Given the description of an element on the screen output the (x, y) to click on. 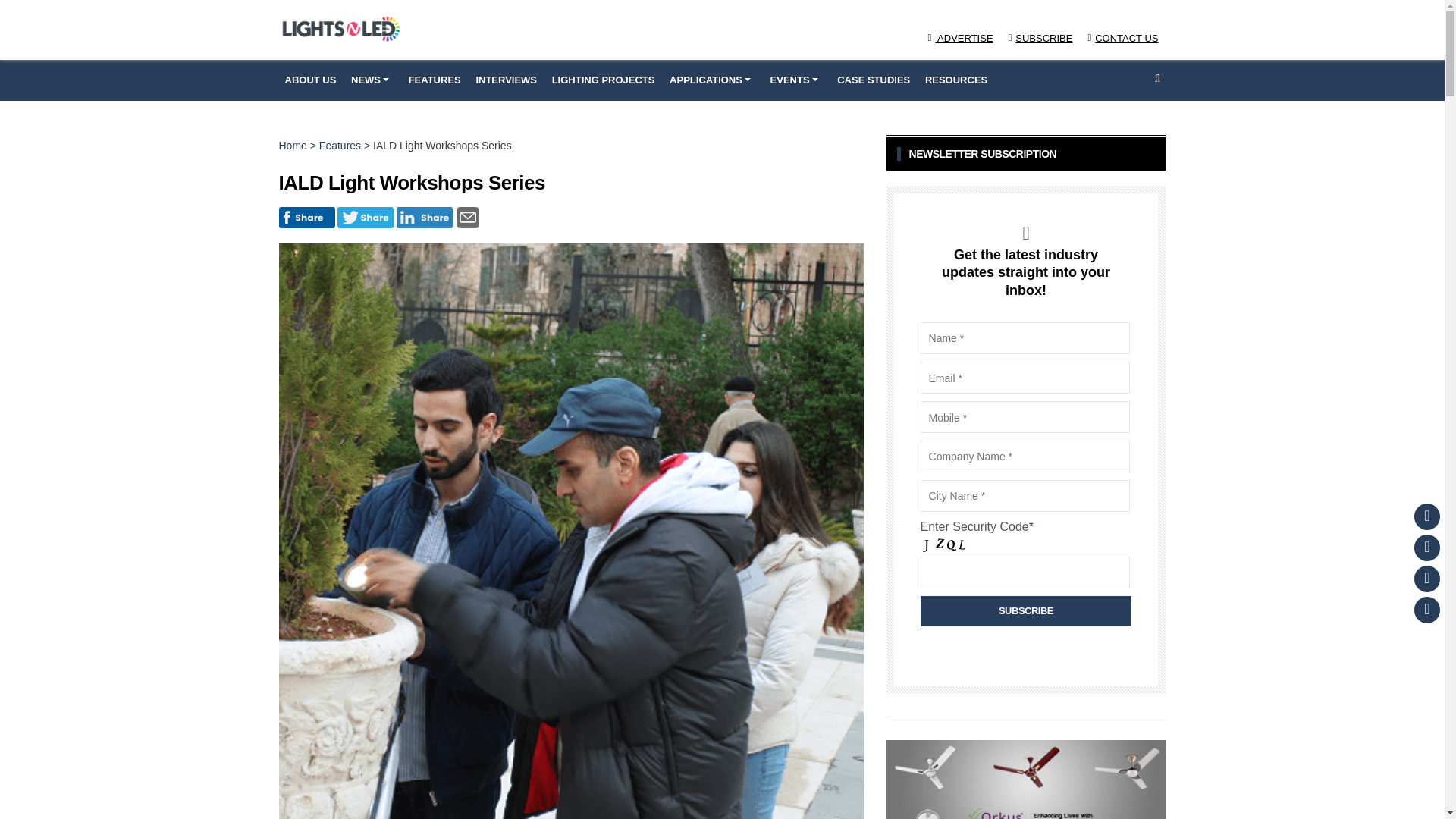
INTERVIEWS (505, 79)
Follow on linkedin (1426, 610)
Share on LinkedIn (424, 213)
LIGHTING PROJECTS (603, 79)
Follow on Twitter (1426, 547)
ADVERTISE (960, 38)
ABOUT US (310, 79)
CASE STUDIES (873, 79)
EVENTS (796, 79)
Tweet (365, 213)
